Given the description of an element on the screen output the (x, y) to click on. 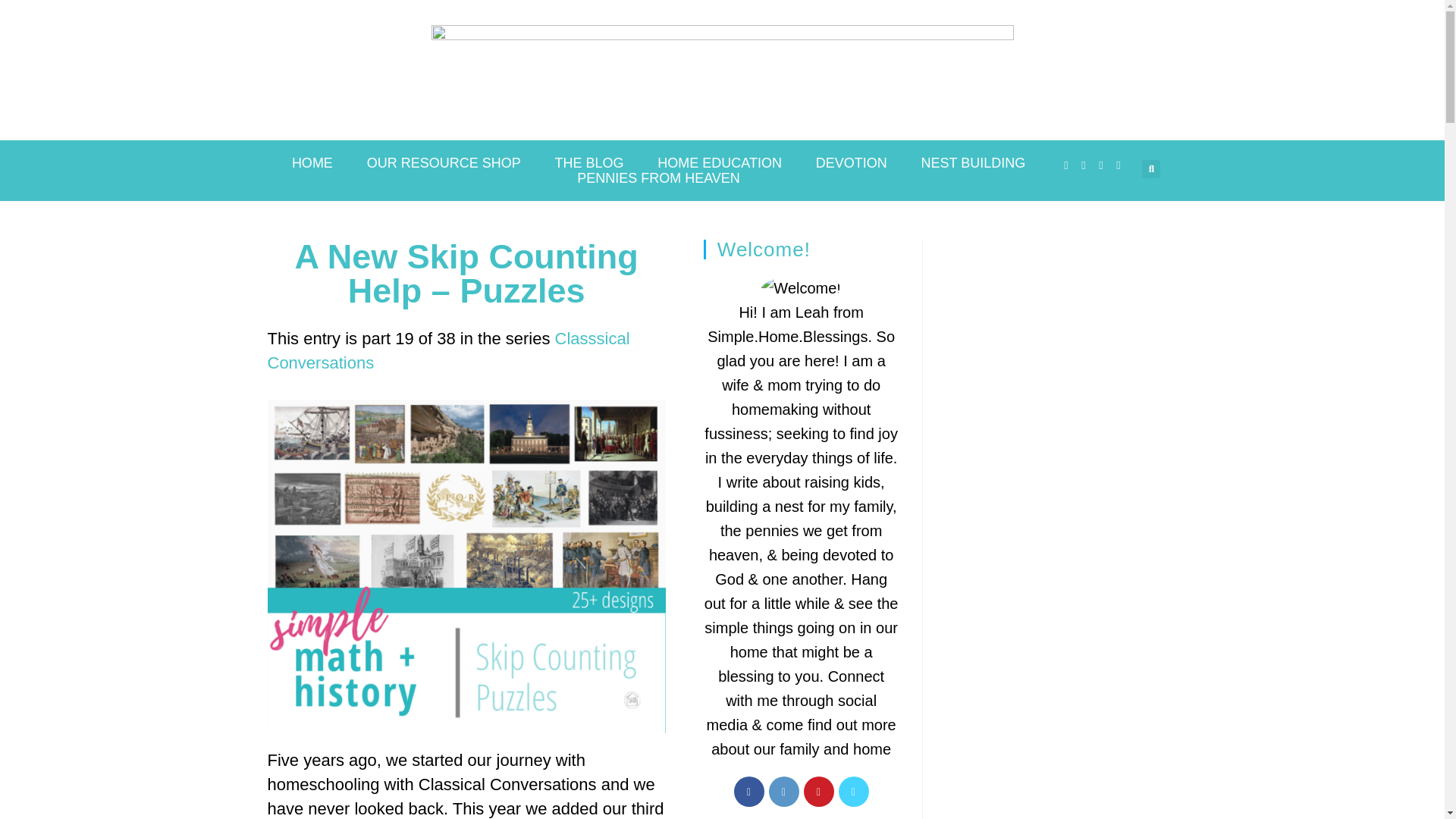
NEST BUILDING (973, 162)
OUR RESOURCE SHOP (443, 162)
HOME (312, 162)
DEVOTION (850, 162)
HOME EDUCATION (718, 162)
THE BLOG (588, 162)
PENNIES FROM HEAVEN (658, 177)
Classsical Conversations (447, 350)
